Given the description of an element on the screen output the (x, y) to click on. 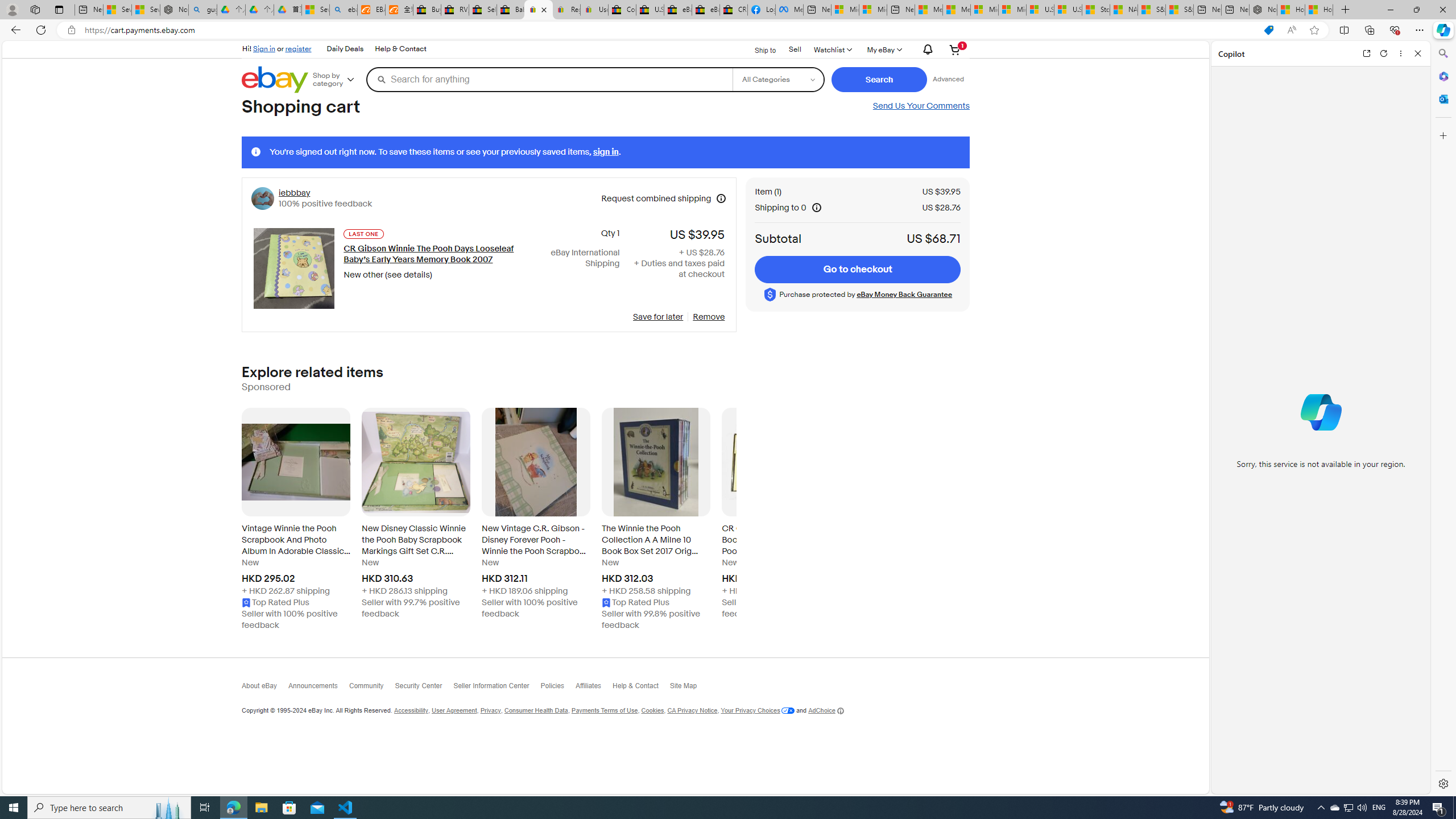
Seller Information Center (496, 688)
iebbbay (294, 192)
Help & Contact (640, 688)
Shop by category (337, 79)
Affiliates (593, 688)
Accessibility (410, 710)
Cookies (651, 710)
CA Privacy Notice (691, 710)
